Given the description of an element on the screen output the (x, y) to click on. 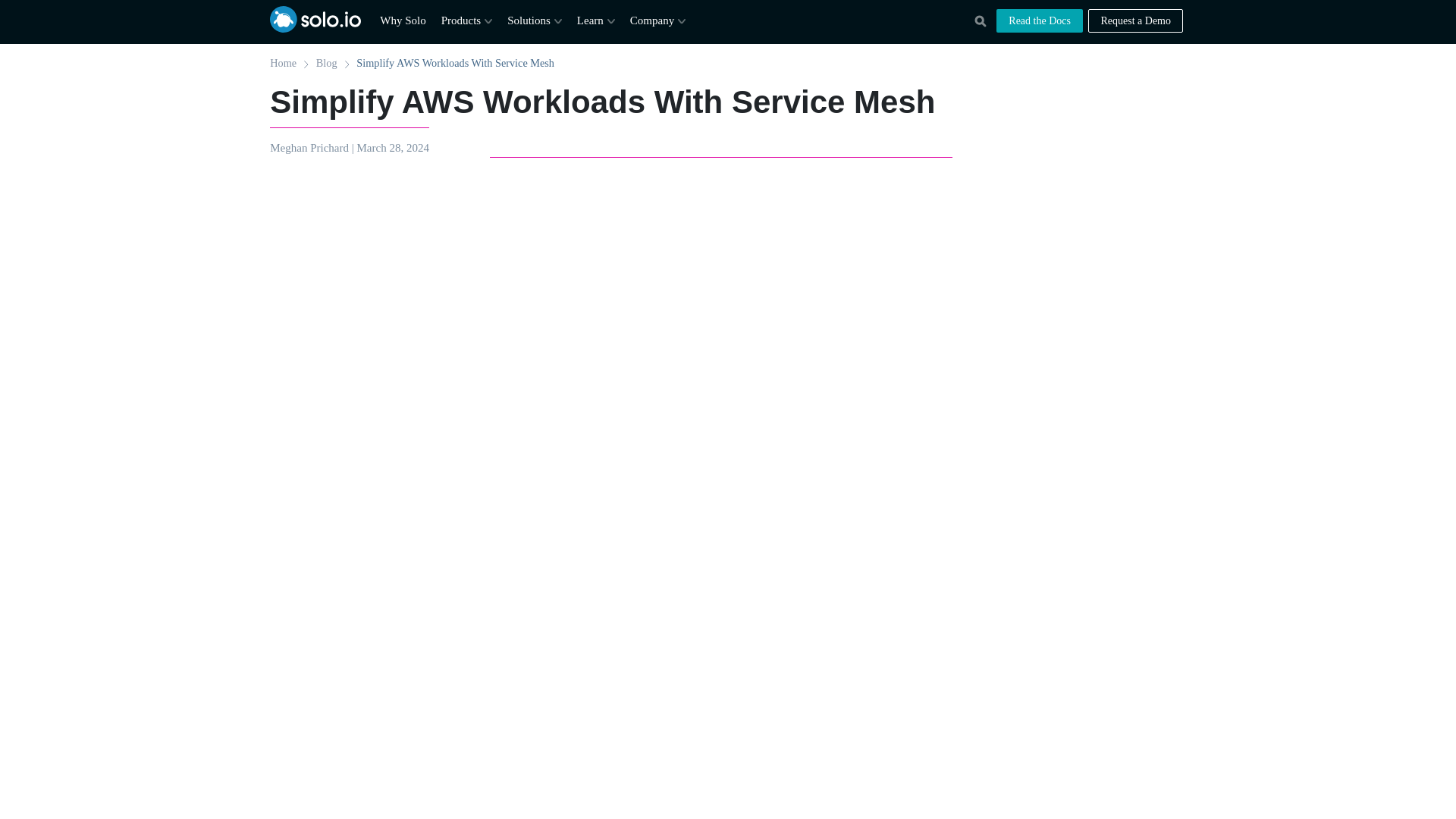
Learn (595, 20)
Why Solo (402, 20)
Solutions (534, 20)
Read the Docs (1039, 20)
Company (657, 20)
Request a Demo (1134, 20)
Products (467, 20)
